Given the description of an element on the screen output the (x, y) to click on. 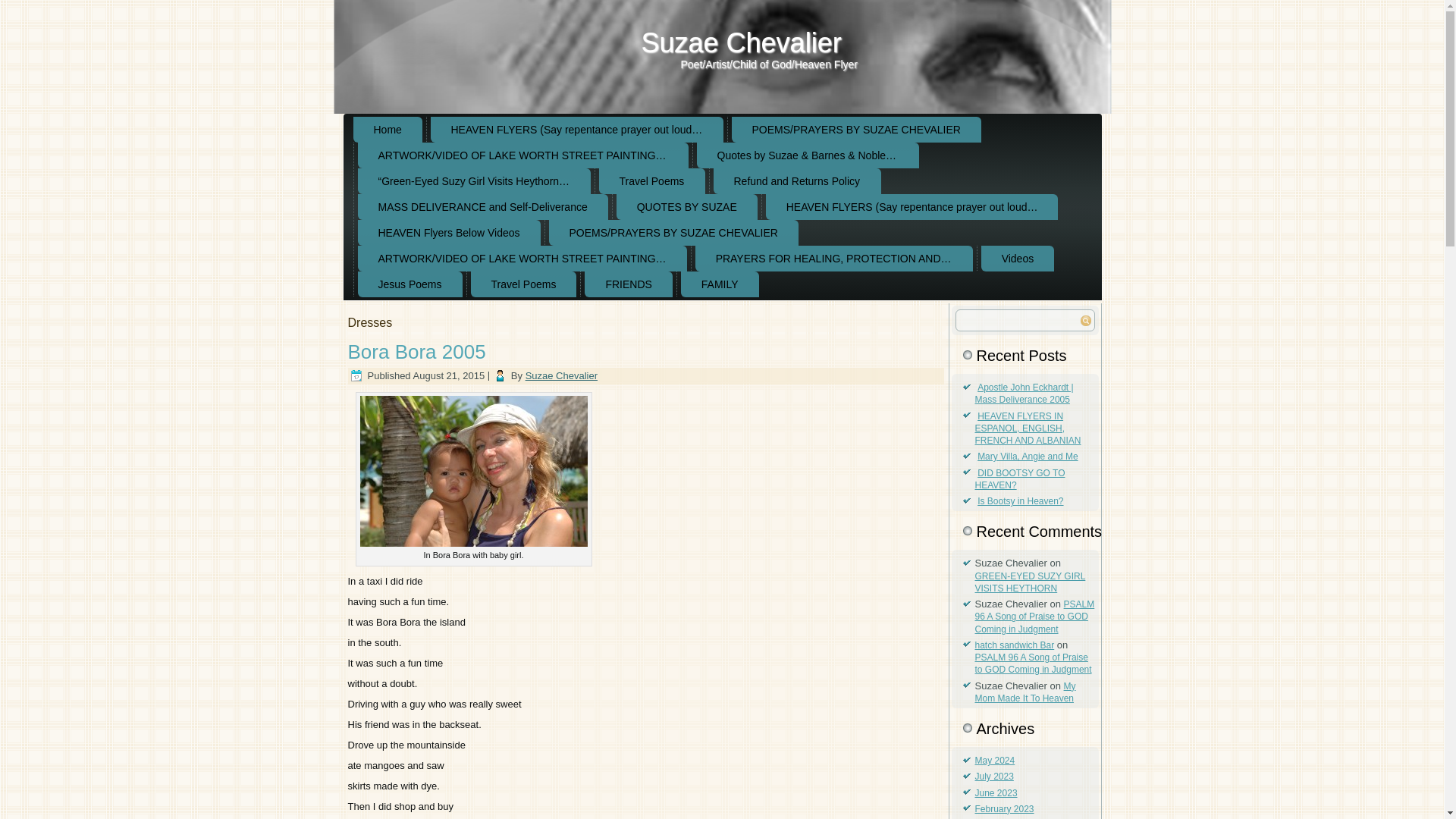
HEAVEN Flyers Below Videos (449, 232)
Videos (1017, 258)
Suzae Chevalier (741, 42)
Refund and Returns Policy (796, 181)
QUOTES BY SUZAE (686, 207)
Home (387, 129)
Travel Poems (651, 181)
Home (387, 129)
MASS DELIVERANCE and Self-Deliverance (483, 207)
